Given the description of an element on the screen output the (x, y) to click on. 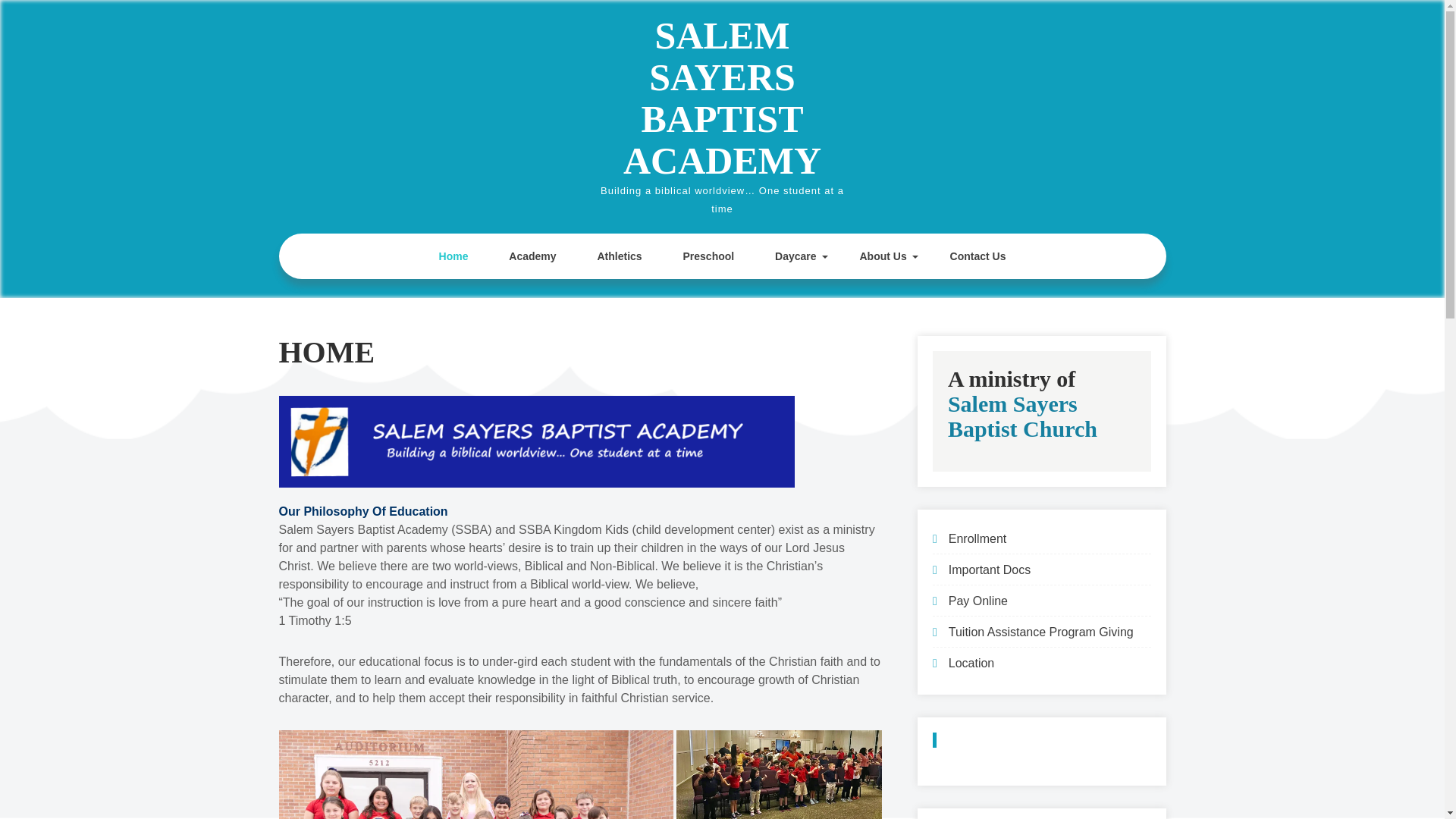
Important Docs (989, 569)
Academy (532, 256)
Tuition Assistance Program Giving (1041, 631)
Contact Us (978, 256)
Pay Online (978, 600)
Daycare (796, 256)
Salem Sayers Baptist Church (1022, 416)
Home (453, 256)
Preschool (707, 256)
Athletics (619, 256)
